Given the description of an element on the screen output the (x, y) to click on. 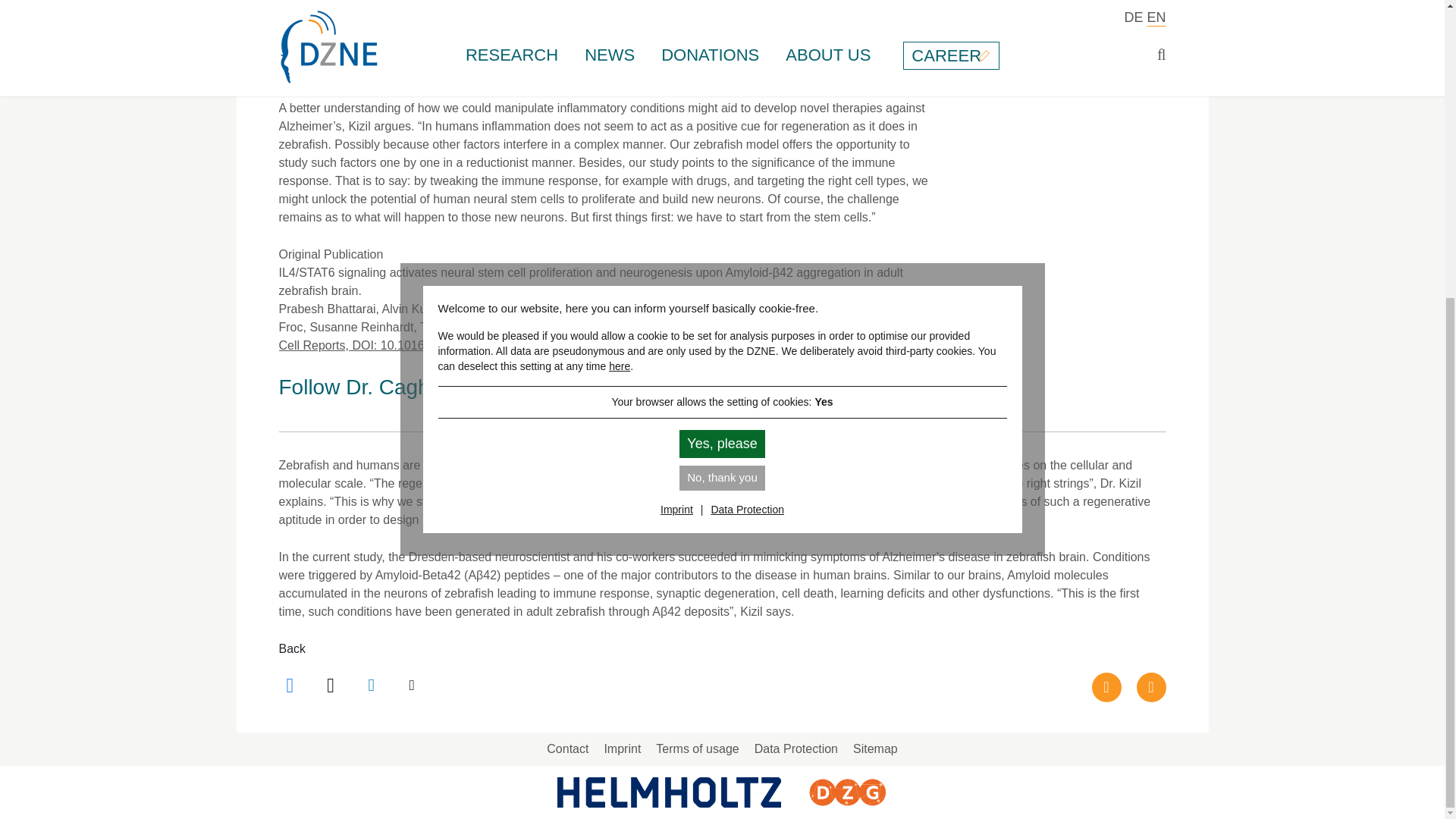
Opens external link in new window (408, 345)
Bei Facebook teilen (292, 685)
In die Zwischenablage kopieren (413, 685)
Bei LinkedIn teilen (373, 685)
Bei Twitter teilen (332, 685)
